Given the description of an element on the screen output the (x, y) to click on. 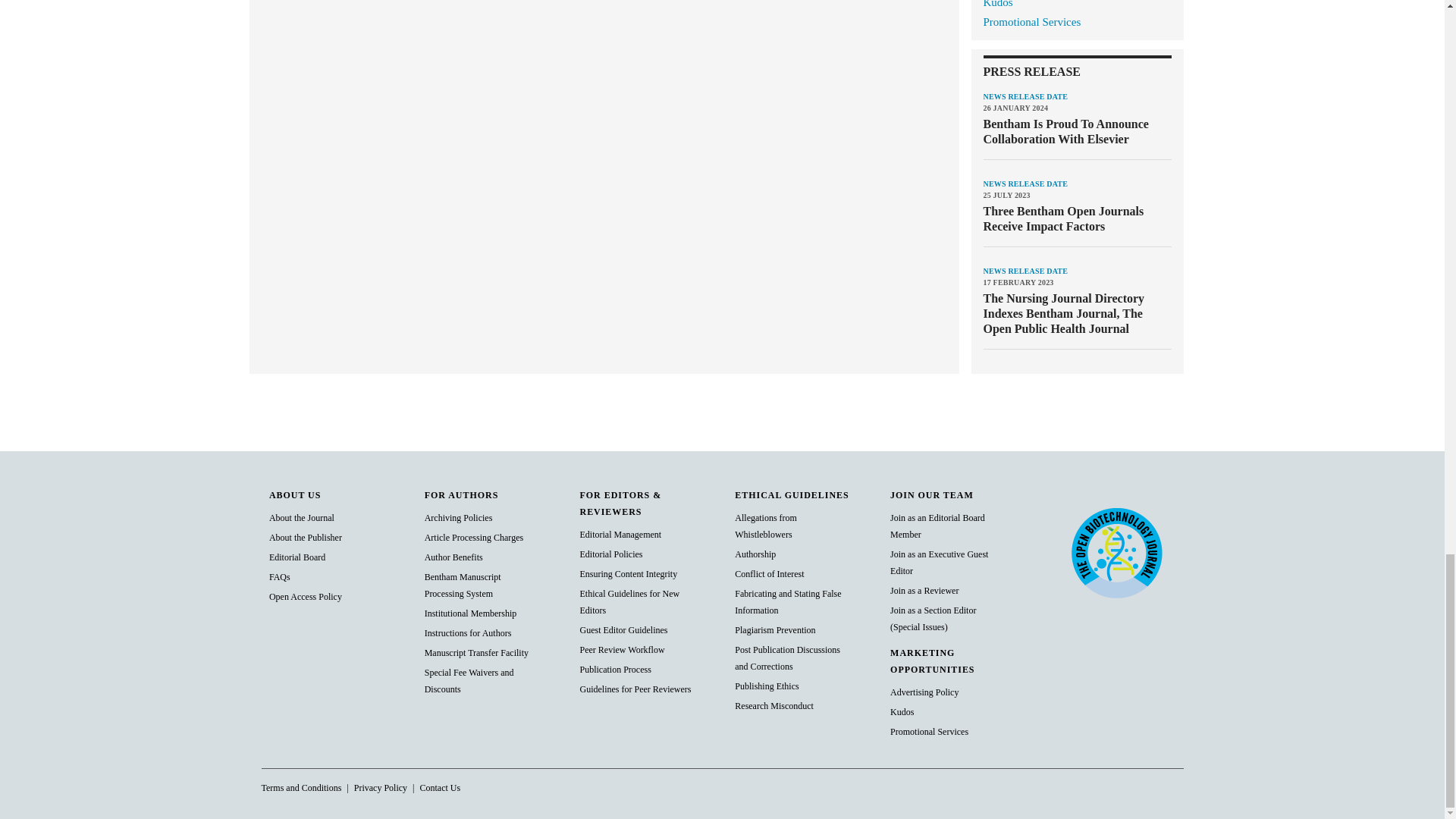
The Open Biotechnology Journal (1115, 552)
Terms and Conditions (300, 787)
Privacy Policy (380, 787)
Privacy Policy (439, 787)
